Given the description of an element on the screen output the (x, y) to click on. 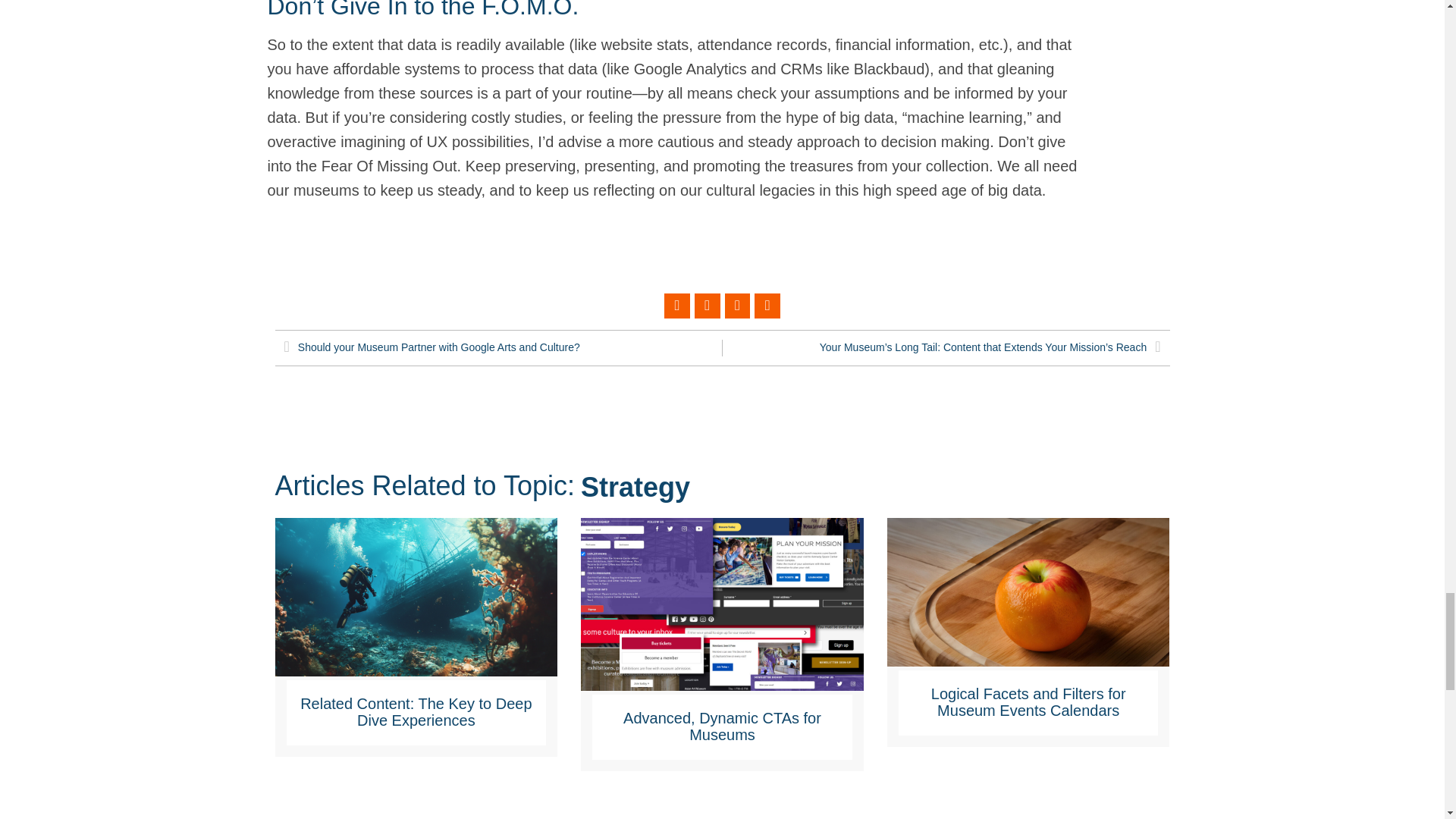
Advanced, Dynamic CTAs for Museums (722, 726)
Logical Facets and Filters for Museum Events Calendars (1028, 602)
Related Content: The Key to Deep Dive Experiences (415, 711)
Advanced, Dynamic CTAs for Museums (721, 614)
Strategy (635, 486)
Related Content: The Key to Deep Dive Experiences (416, 607)
Should your Museum Partner with Google Arts and Culture? (502, 347)
